Given the description of an element on the screen output the (x, y) to click on. 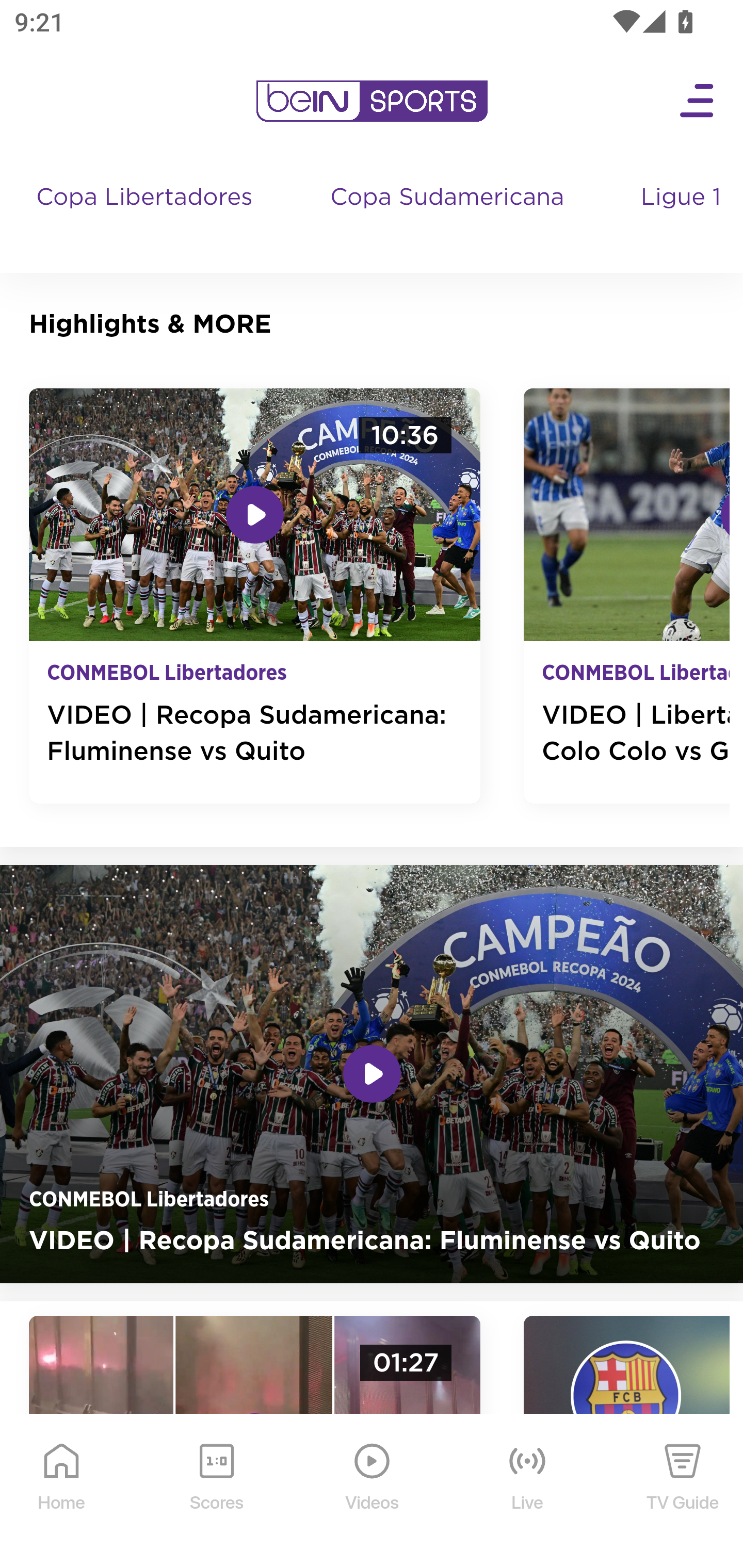
en-us?platform=mobile_android bein logo (371, 101)
Open Menu Icon (697, 101)
Copa Libertadores (146, 216)
Copa Sudamericana (448, 216)
Ligue 1 (682, 216)
Home Home Icon Home (61, 1491)
Scores Scores Icon Scores (216, 1491)
Videos Videos Icon Videos (372, 1491)
TV Guide TV Guide Icon TV Guide (682, 1491)
